Given the description of an element on the screen output the (x, y) to click on. 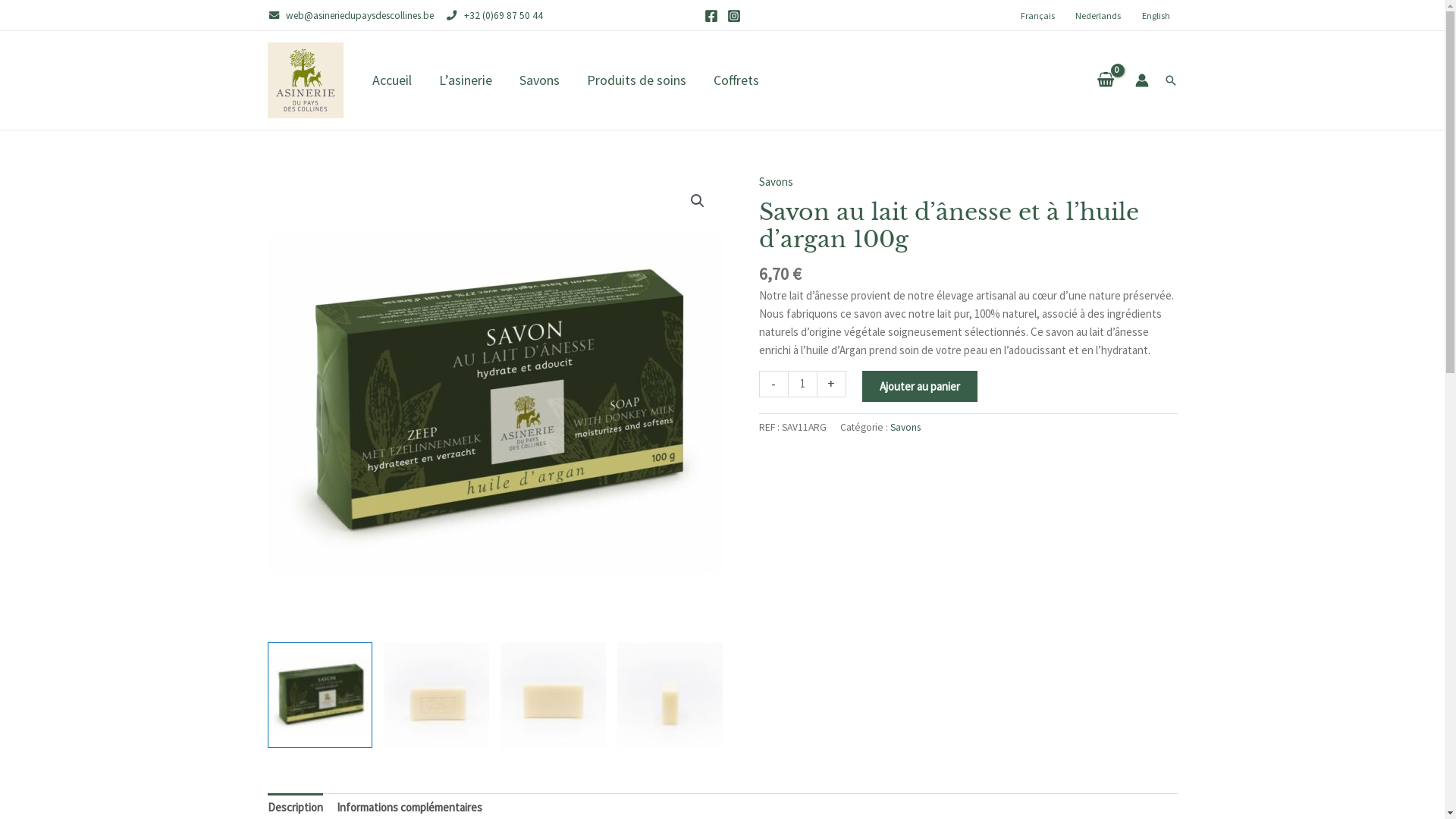
Savons Element type: text (775, 181)
English Element type: text (1156, 14)
Savons Element type: text (538, 79)
web@asineriedupaysdescollines.be Element type: text (349, 14)
Rechercher Element type: text (1169, 80)
Savons Element type: text (905, 426)
+ Element type: text (831, 383)
+32 (0)69 87 50 44 Element type: text (487, 15)
- Element type: text (772, 383)
Ajouter au panier Element type: text (919, 385)
Coffrets Element type: text (735, 79)
Accueil Element type: text (390, 79)
Produits de soins Element type: text (636, 79)
Nederlands Element type: text (1097, 14)
